Given the description of an element on the screen output the (x, y) to click on. 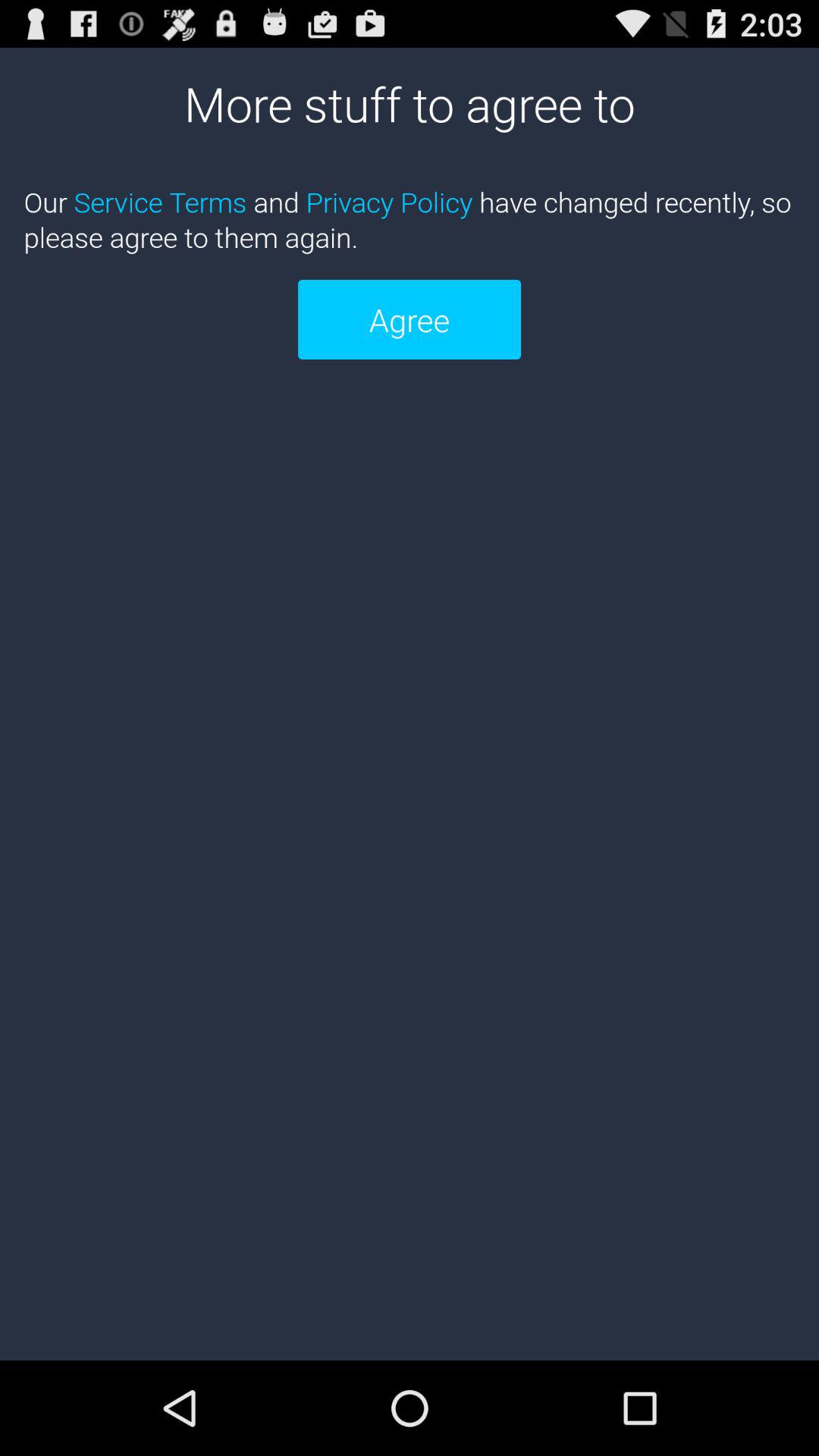
select icon below more stuff to icon (409, 219)
